Given the description of an element on the screen output the (x, y) to click on. 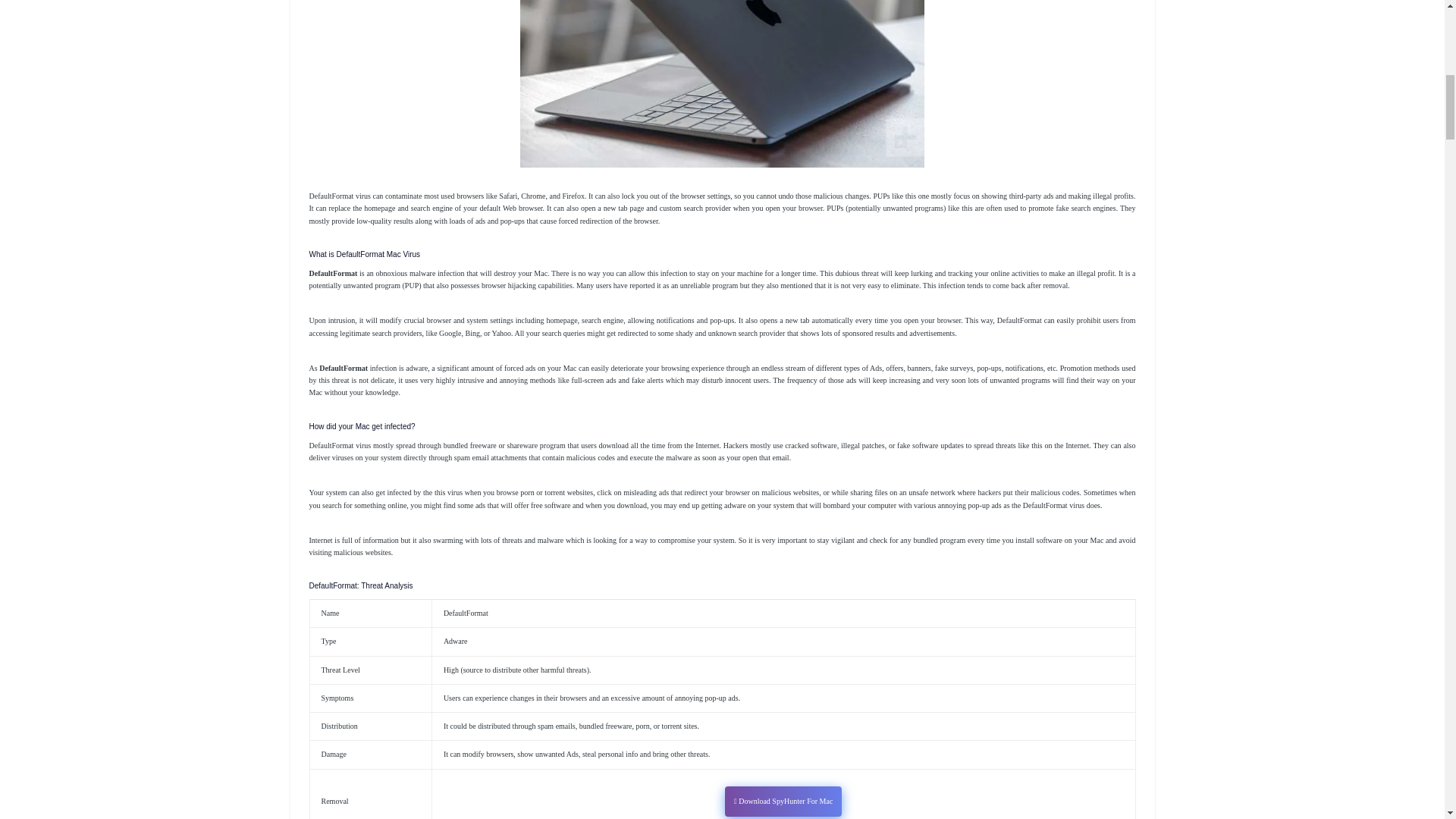
DefaultFormat Mac Virus Removal (721, 83)
Download SpyHunter For Mac (783, 800)
